Given the description of an element on the screen output the (x, y) to click on. 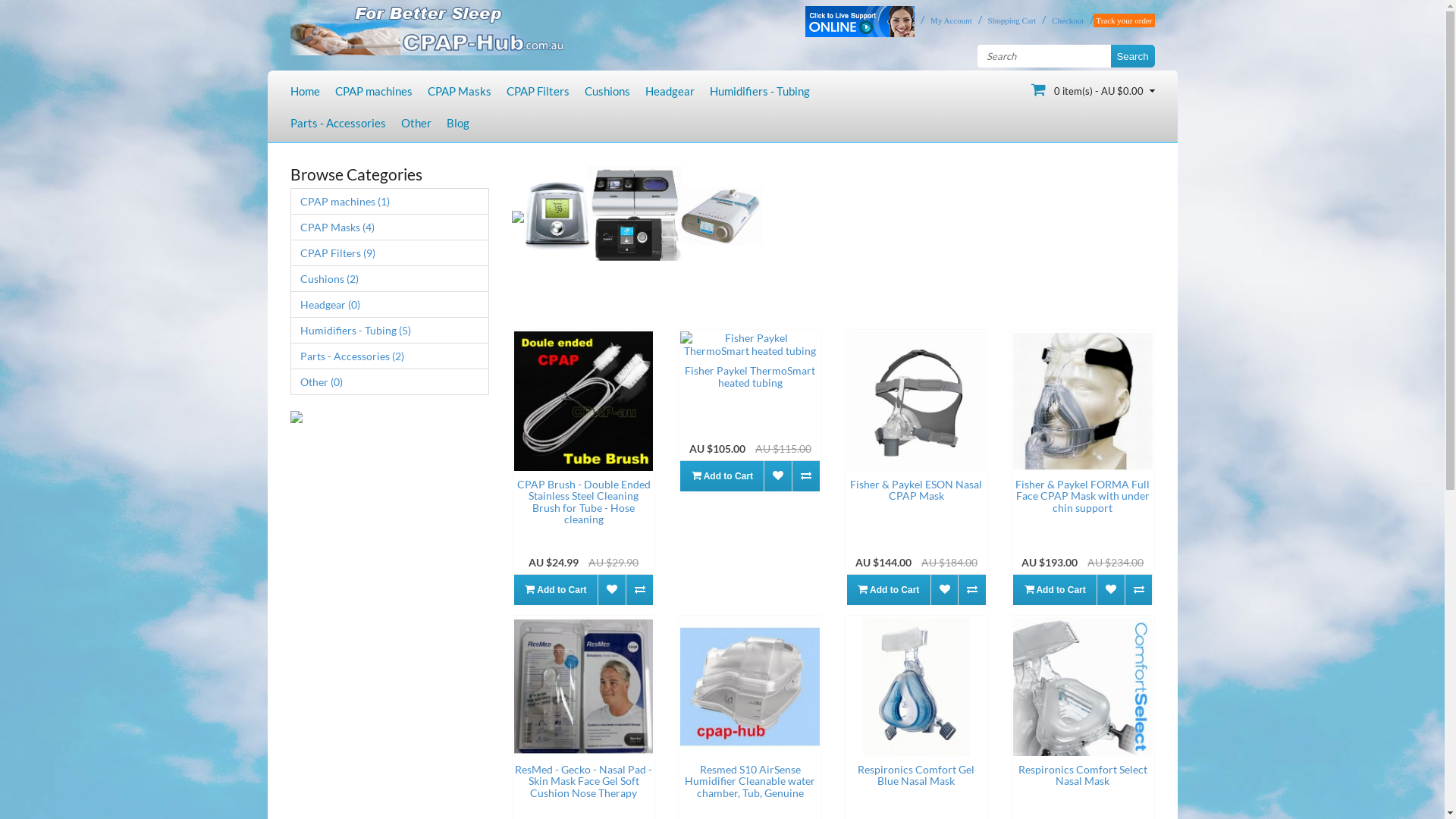
Add to Cart Element type: text (1054, 589)
Headgear (0) Element type: text (389, 304)
CPAP machines (1) Element type: text (389, 201)
Fisher Paykel ThermoSmart heated tubing Element type: text (749, 376)
CPAP Filters (9) Element type: text (389, 252)
Add to Cart Element type: text (555, 589)
CPAP Masks (4) Element type: text (389, 226)
Other (0) Element type: text (389, 381)
Respironics Comfort Gel Blue Nasal Mask Element type: hover (916, 686)
Track your order Element type: text (1123, 20)
CPAP Masks Element type: text (459, 90)
Cushions (2) Element type: text (389, 278)
Respironics Comfort Select Nasal Mask Element type: text (1082, 774)
Fisher & Paykel ESON Nasal CPAP Mask Element type: text (916, 489)
Cpap-Hub Element type: hover (425, 27)
Headgear Element type: text (668, 90)
Humidifiers - Tubing (5) Element type: text (389, 329)
Parts - Accessories (2) Element type: text (389, 355)
Fisher  Paykel ThermoSmart heated tubing Element type: hover (749, 344)
My Account Element type: text (947, 20)
Respironics Comfort Gel Blue Nasal Mask Element type: text (915, 774)
Other Element type: text (415, 122)
Checkout Element type: text (1064, 20)
Add to Cart Element type: text (888, 589)
CPAP Filters Element type: text (537, 90)
Fisher & Paykel ESON Nasal CPAP Mask Element type: hover (916, 400)
Add to Cart Element type: text (721, 476)
Blog Element type: text (456, 122)
0 item(s) - AU $0.00 Element type: text (1092, 89)
CPAP machines Element type: text (373, 90)
Shopping Cart Element type: text (1009, 20)
Search Element type: text (1132, 55)
Home Element type: text (304, 90)
Cushions Element type: text (606, 90)
Humidifiers - Tubing Element type: text (759, 90)
Parts - Accessories Element type: text (337, 122)
Respironics Comfort Select Nasal Mask Element type: hover (1082, 686)
